Given the description of an element on the screen output the (x, y) to click on. 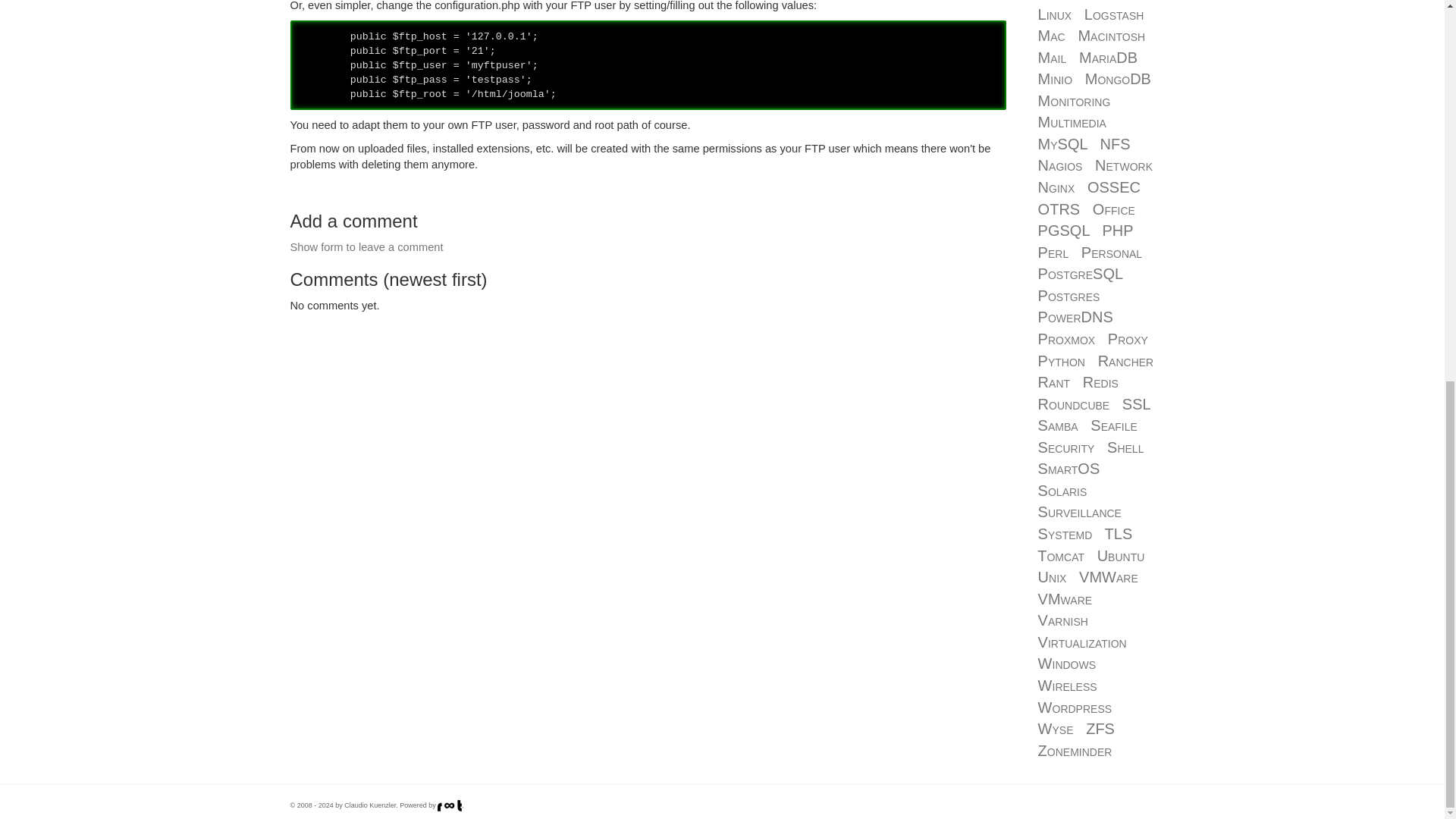
Show form to leave a comment (365, 246)
